Given the description of an element on the screen output the (x, y) to click on. 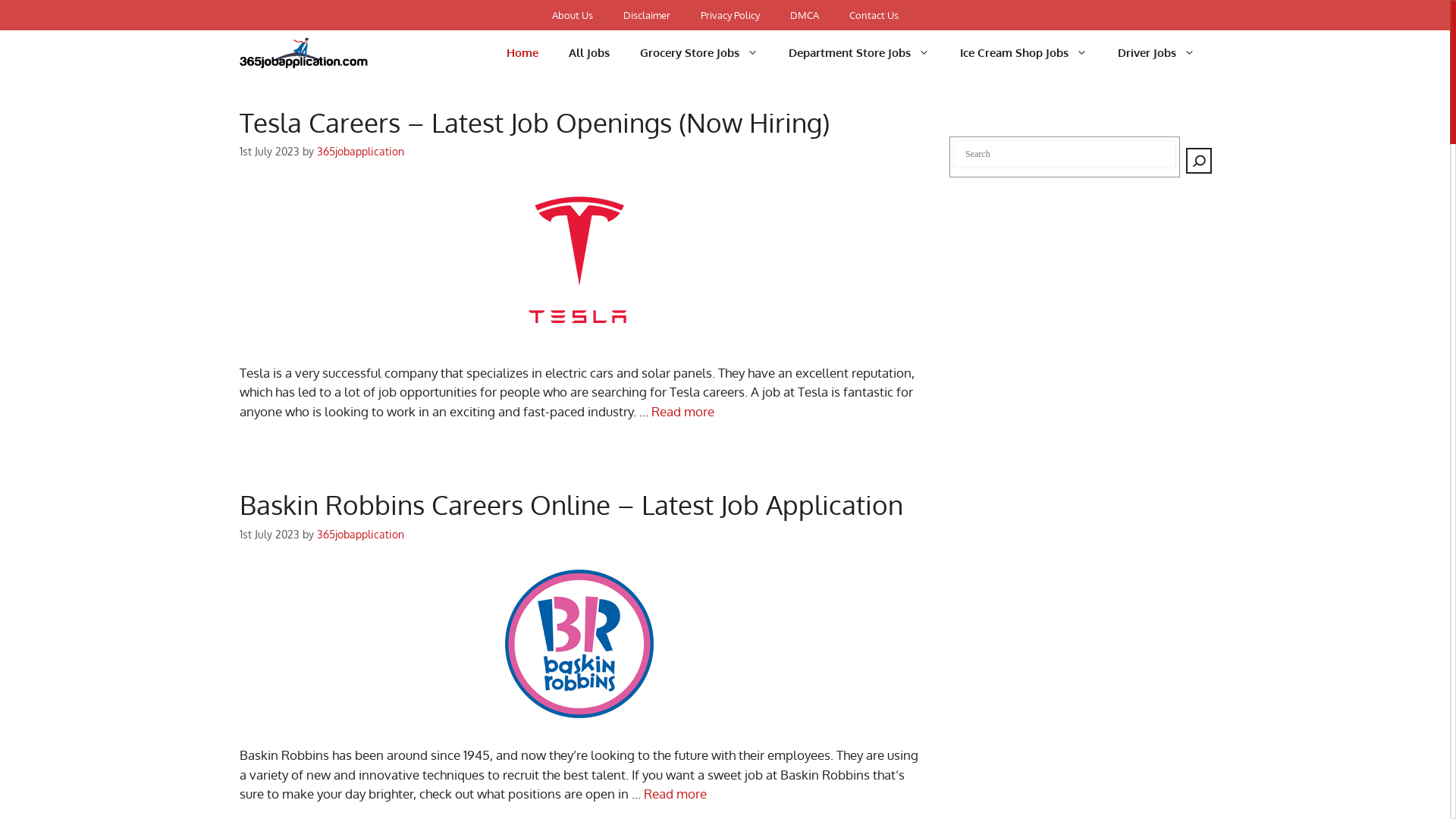
Grocery Store Jobs Element type: text (698, 52)
Read more Element type: text (682, 411)
Driver Jobs Element type: text (1156, 52)
About Us Element type: text (572, 15)
All Jobs Element type: text (588, 52)
Department Store Jobs Element type: text (858, 52)
365jobapplication Element type: text (360, 150)
Home Element type: text (522, 52)
Read more Element type: text (674, 793)
365jobapplication Element type: text (360, 532)
Ice Cream Shop Jobs Element type: text (1023, 52)
DMCA Element type: text (804, 15)
Disclaimer Element type: text (646, 15)
Privacy Policy Element type: text (730, 15)
365jobapplication.com Element type: hover (303, 52)
Contact Us Element type: text (873, 15)
